Given the description of an element on the screen output the (x, y) to click on. 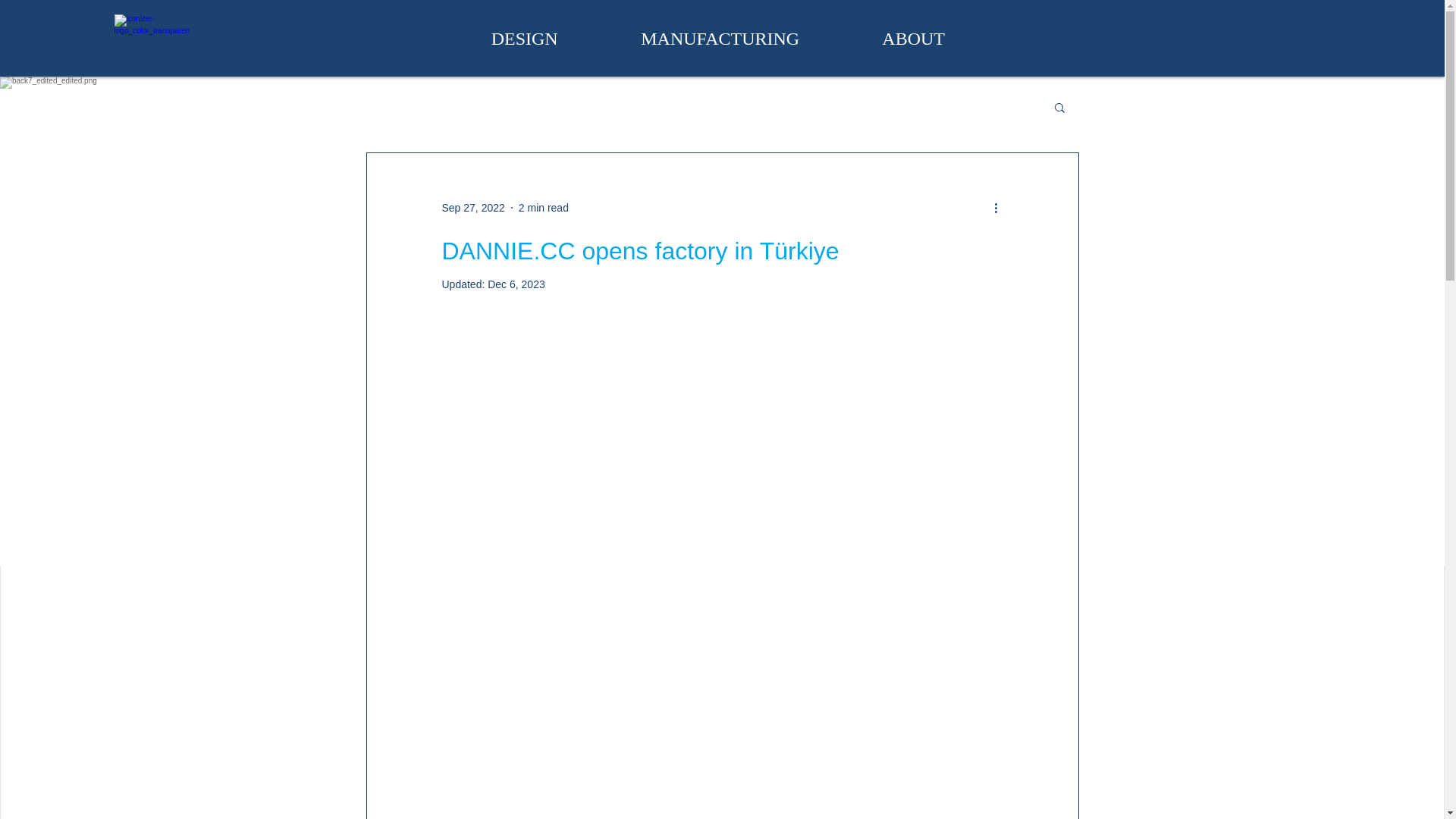
2 min read (543, 207)
Dec 6, 2023 (515, 284)
Sep 27, 2022 (472, 207)
